Given the description of an element on the screen output the (x, y) to click on. 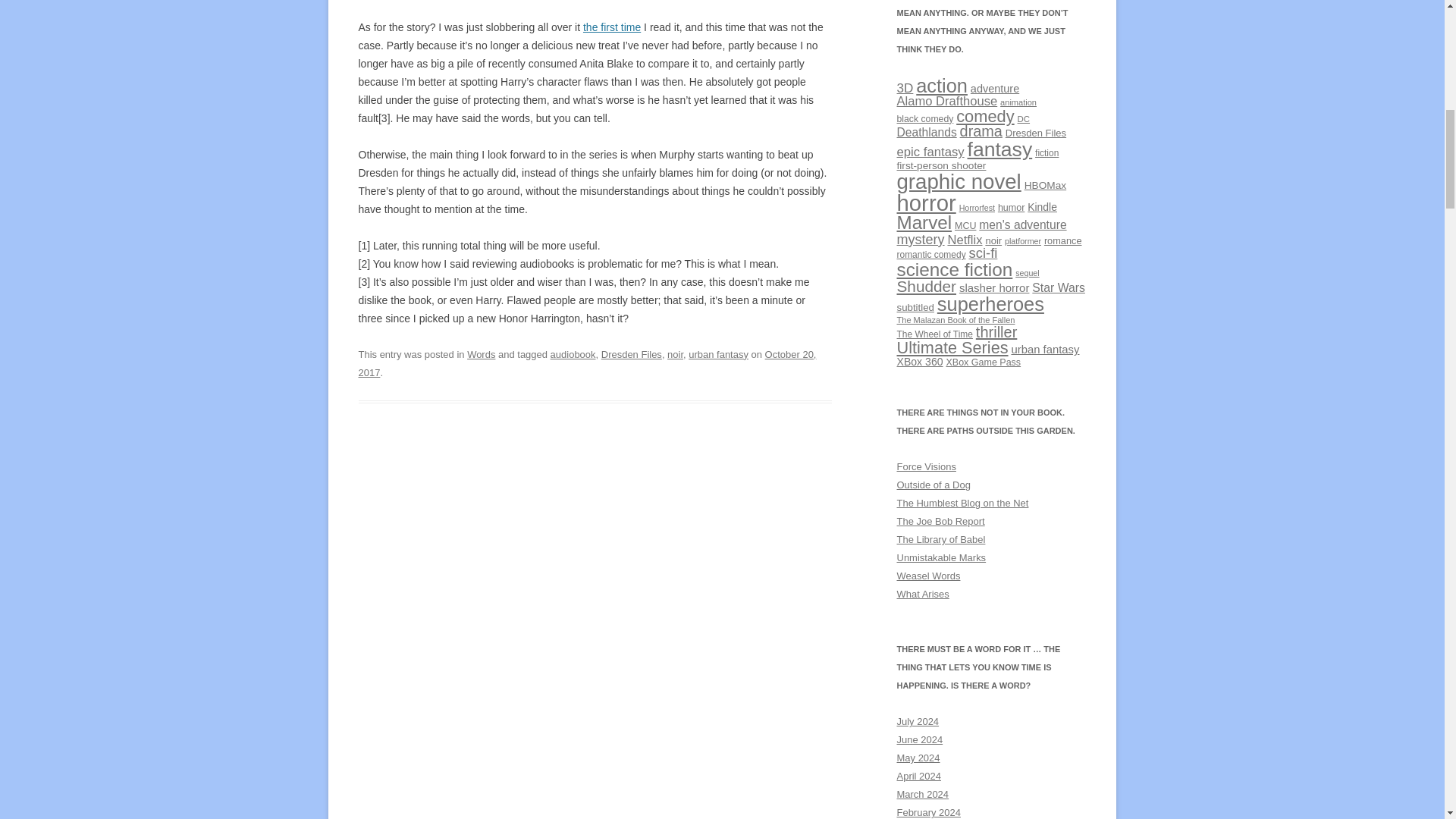
action (941, 85)
10:03 am (586, 363)
October 20, 2017 (586, 363)
animation (1018, 102)
noir (674, 354)
drama (981, 130)
DC (1023, 118)
Words (481, 354)
Alamo Drafthouse (946, 101)
